Given the description of an element on the screen output the (x, y) to click on. 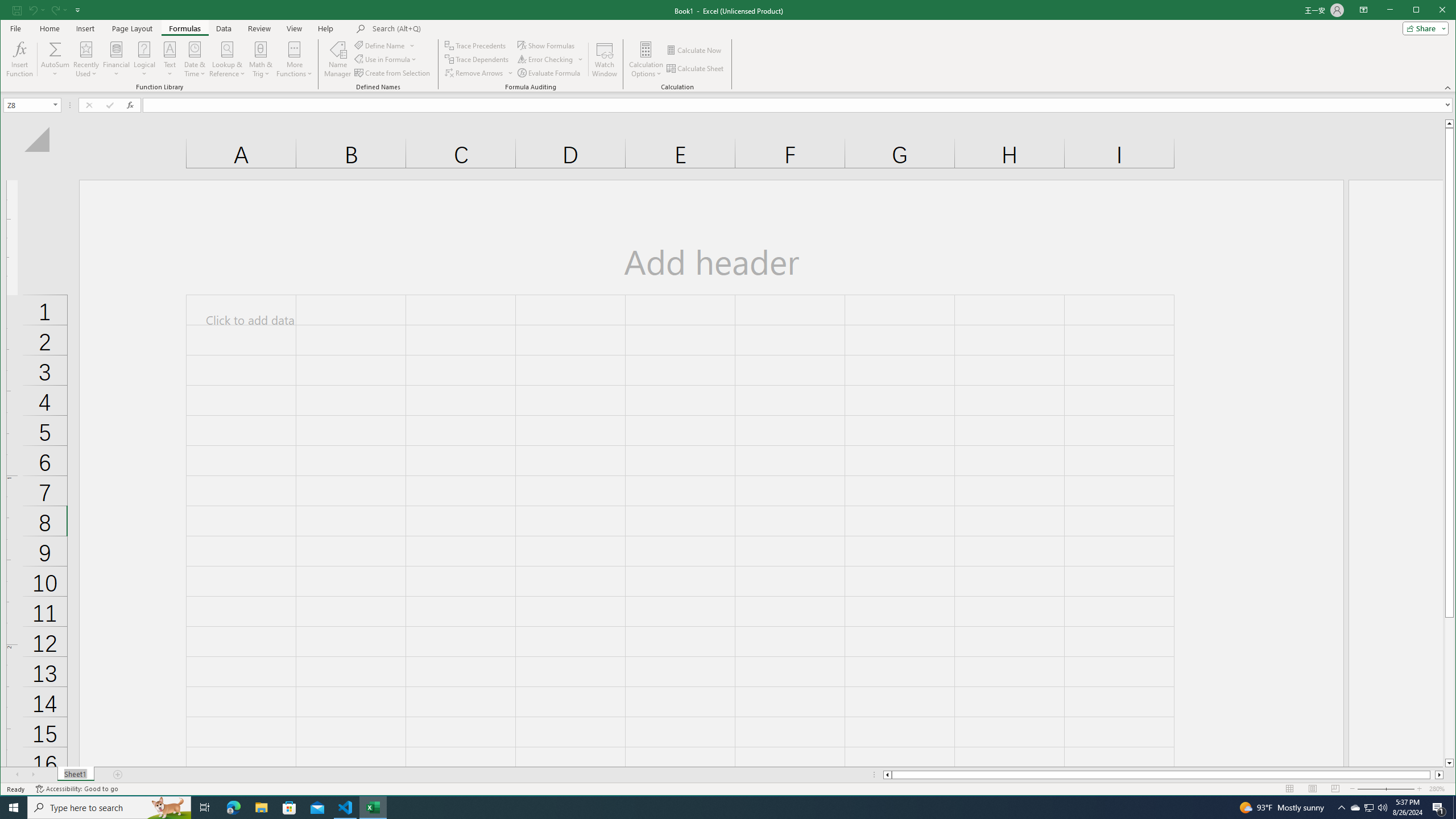
Trace Dependents (477, 59)
File Explorer (261, 807)
Type here to search (108, 807)
Error Checking... (545, 59)
Logical (144, 59)
More Functions (294, 59)
Notification Chevron (1341, 807)
Recently Used (86, 59)
